Given the description of an element on the screen output the (x, y) to click on. 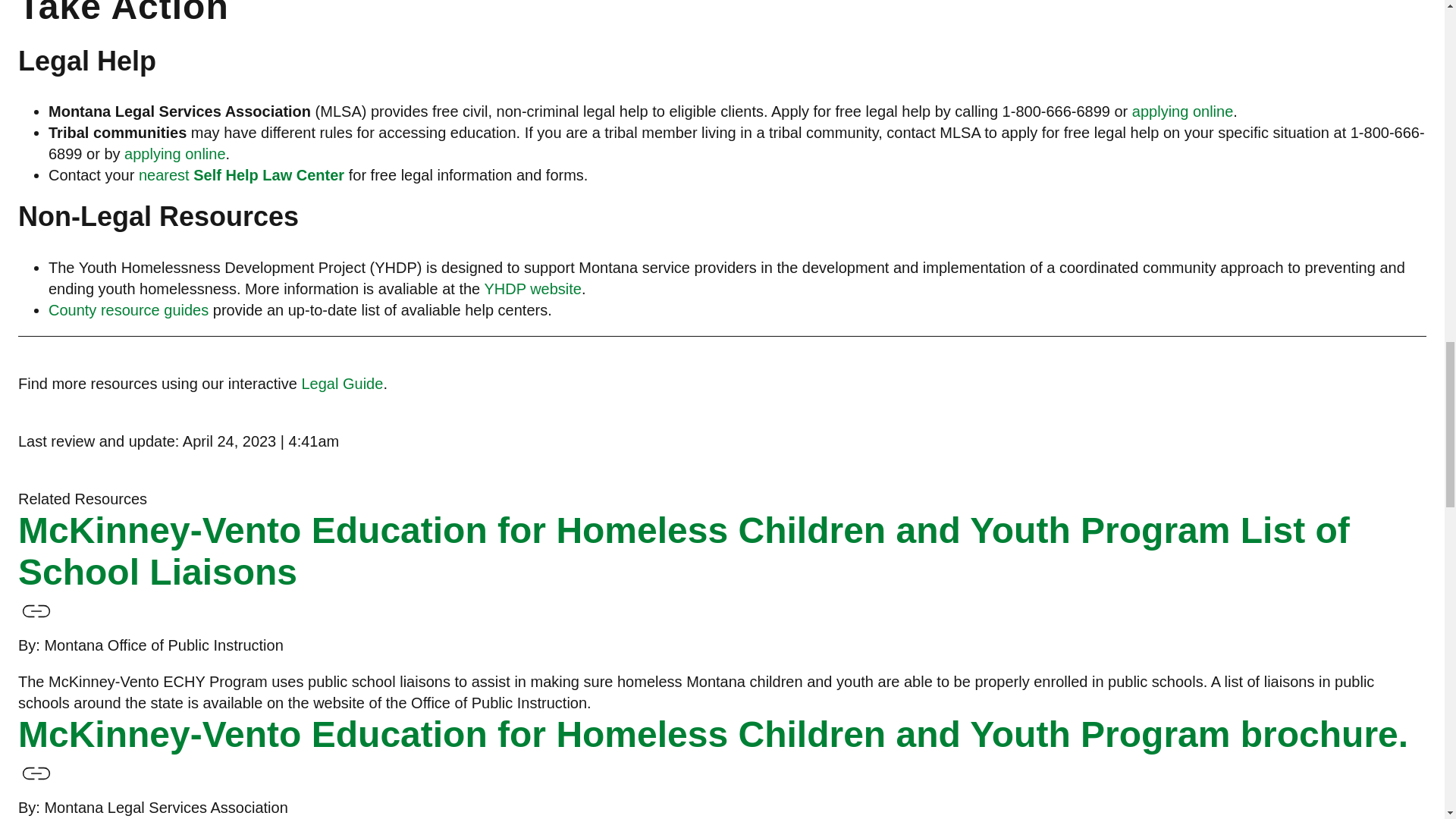
nearest Self Help Law Center (243, 175)
County resource guides (128, 310)
YHDP website (531, 288)
applying online (1182, 111)
Legal Guide (342, 383)
applying online (174, 153)
